Given the description of an element on the screen output the (x, y) to click on. 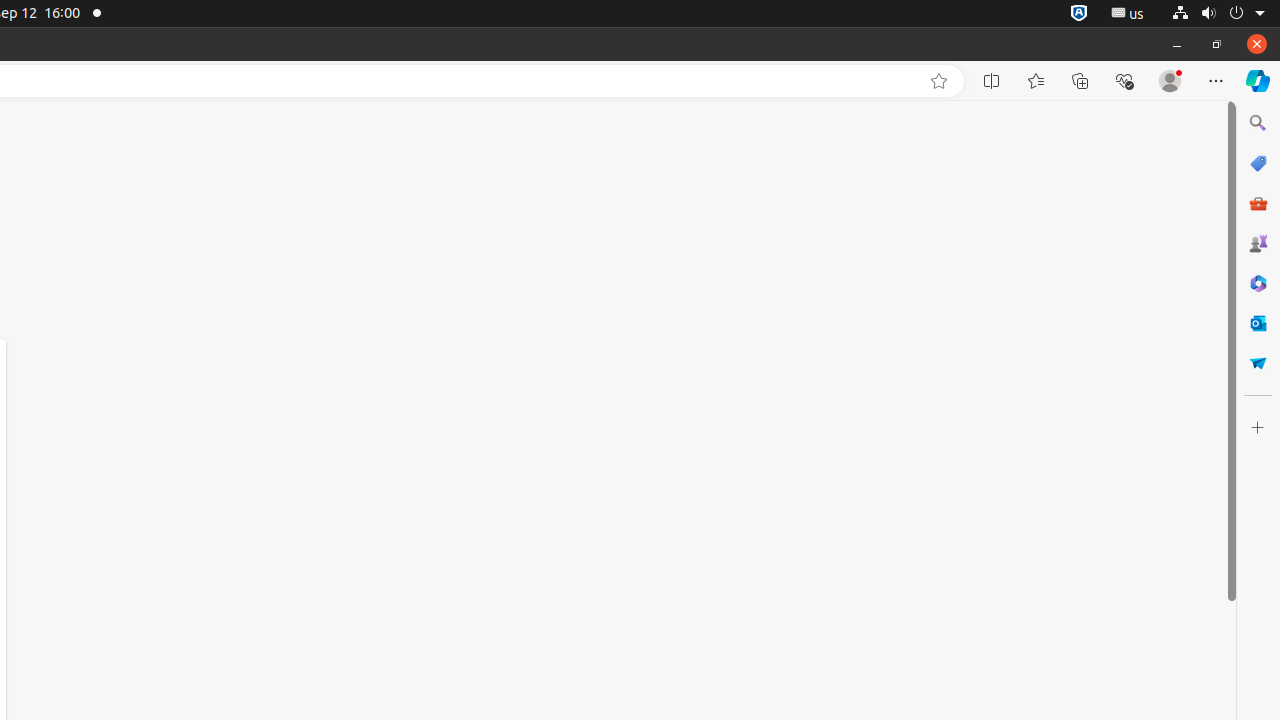
Copilot (Ctrl+Shift+.) Element type: push-button (1258, 81)
:1.21/StatusNotifierItem Element type: menu (1127, 13)
Drop Element type: push-button (1258, 363)
System Element type: menu (1218, 13)
Microsoft 365 Element type: push-button (1258, 283)
